Given the description of an element on the screen output the (x, y) to click on. 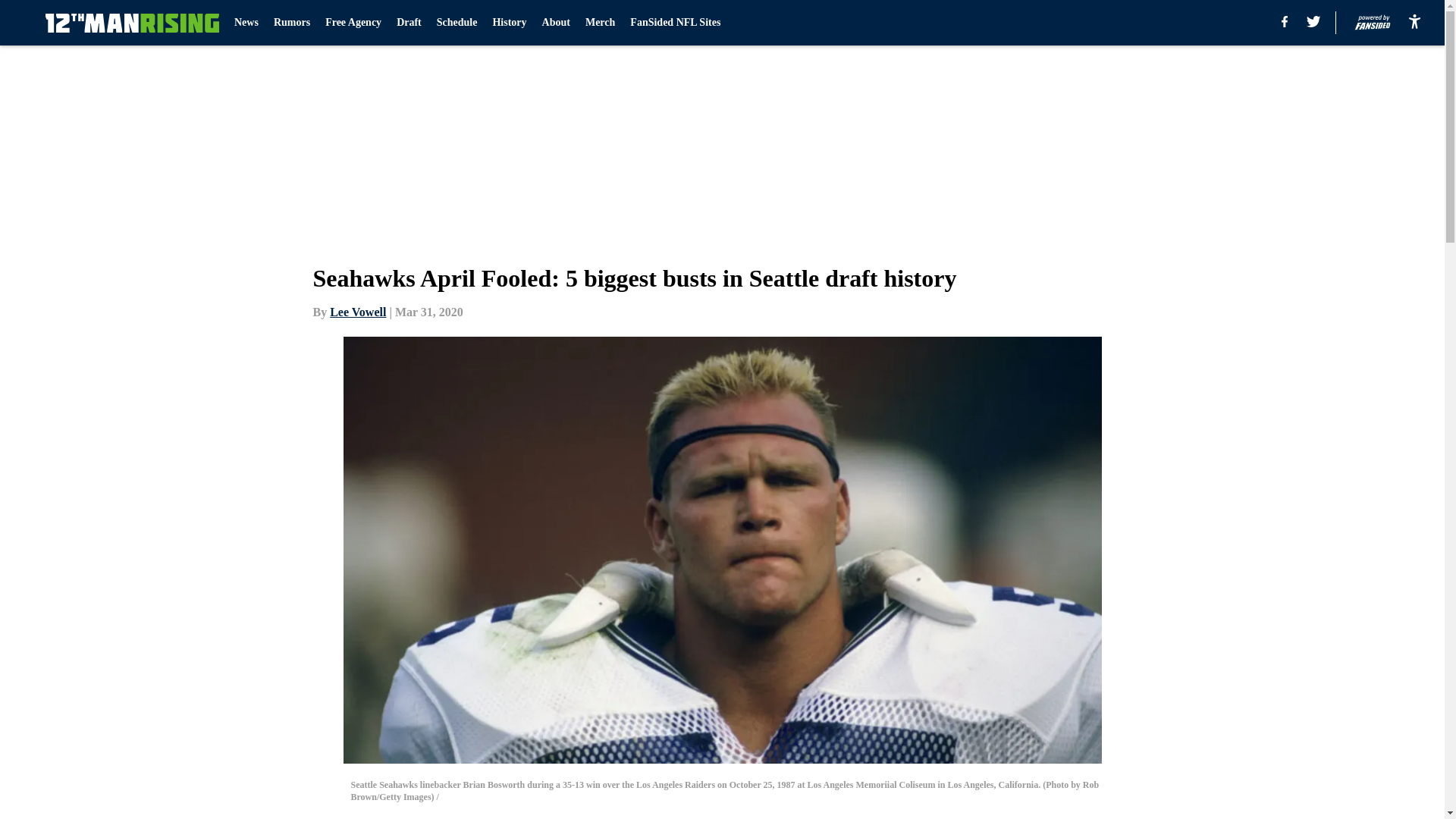
Schedule (456, 22)
About (555, 22)
News (246, 22)
FanSided NFL Sites (675, 22)
Draft (409, 22)
Lee Vowell (357, 311)
Merch (599, 22)
Rumors (291, 22)
History (508, 22)
Free Agency (352, 22)
